Given the description of an element on the screen output the (x, y) to click on. 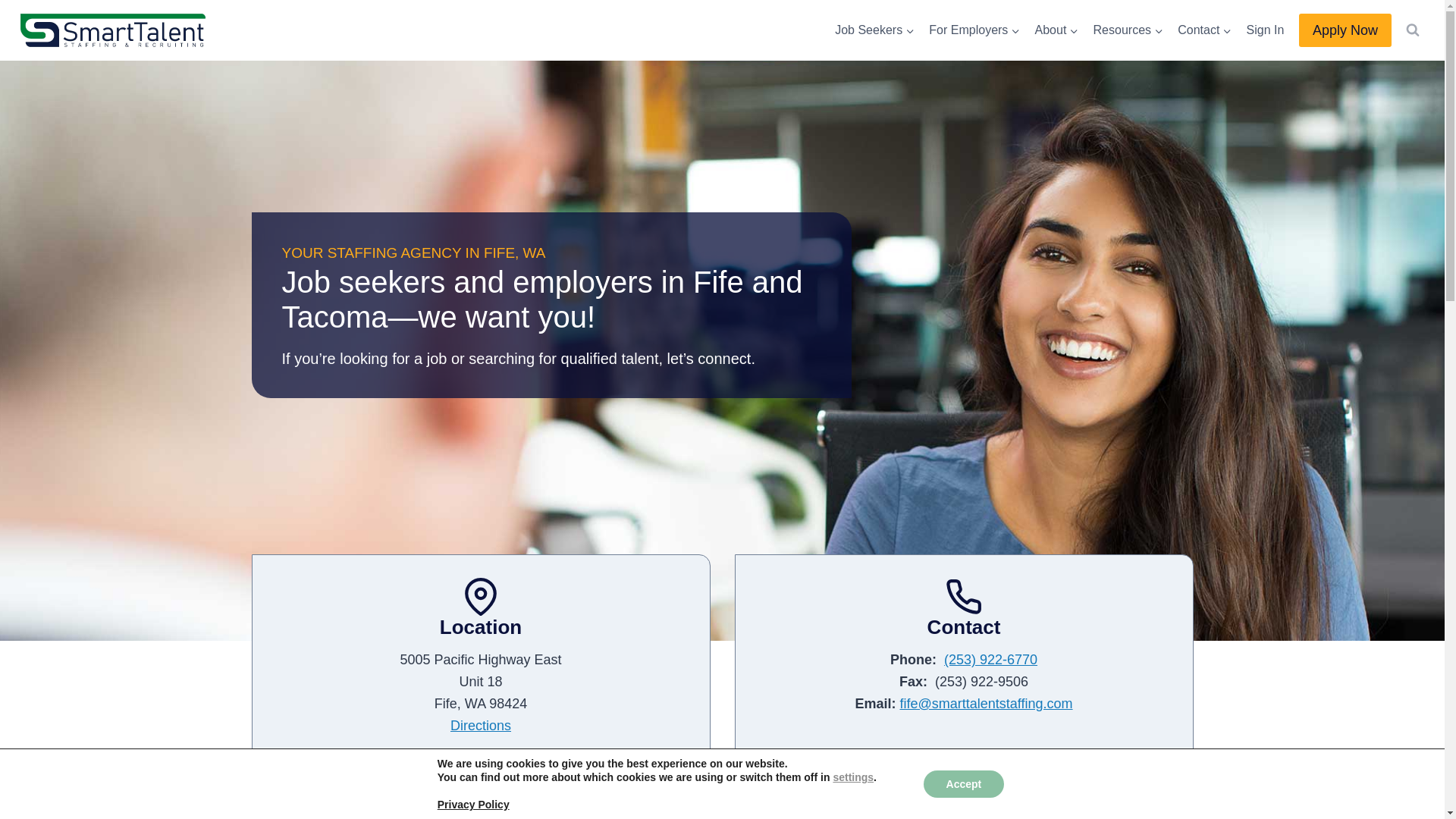
Job Seekers (874, 30)
Contact (1204, 30)
Resources (1128, 30)
About (1056, 30)
For Employers (974, 30)
